Given the description of an element on the screen output the (x, y) to click on. 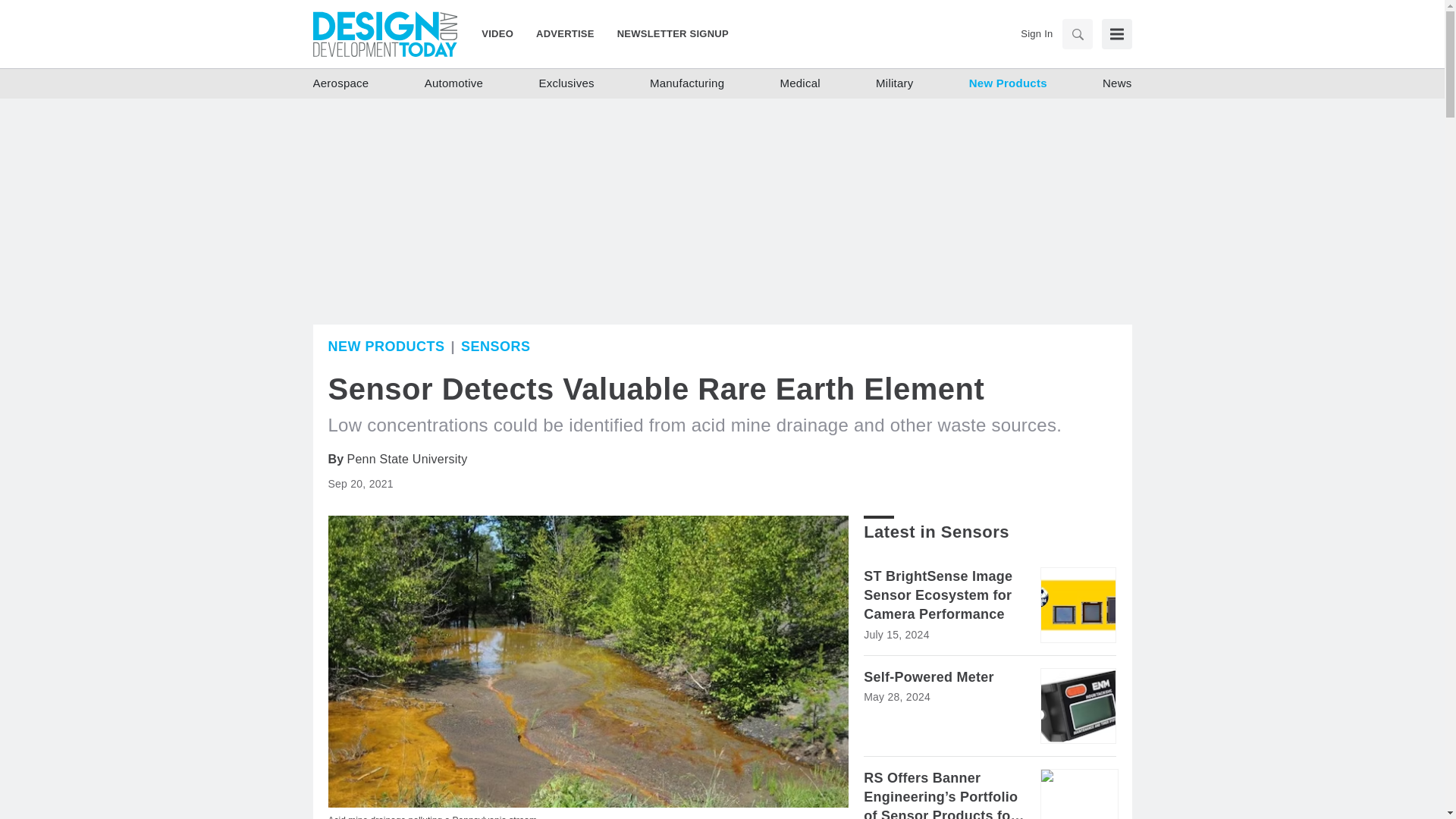
ADVERTISE (564, 33)
News (1117, 83)
Manufacturing (686, 83)
New Products (385, 346)
VIDEO (502, 33)
Military (895, 83)
Exclusives (566, 83)
NEWSLETTER SIGNUP (667, 33)
New Products (1007, 83)
Automotive (454, 83)
